Given the description of an element on the screen output the (x, y) to click on. 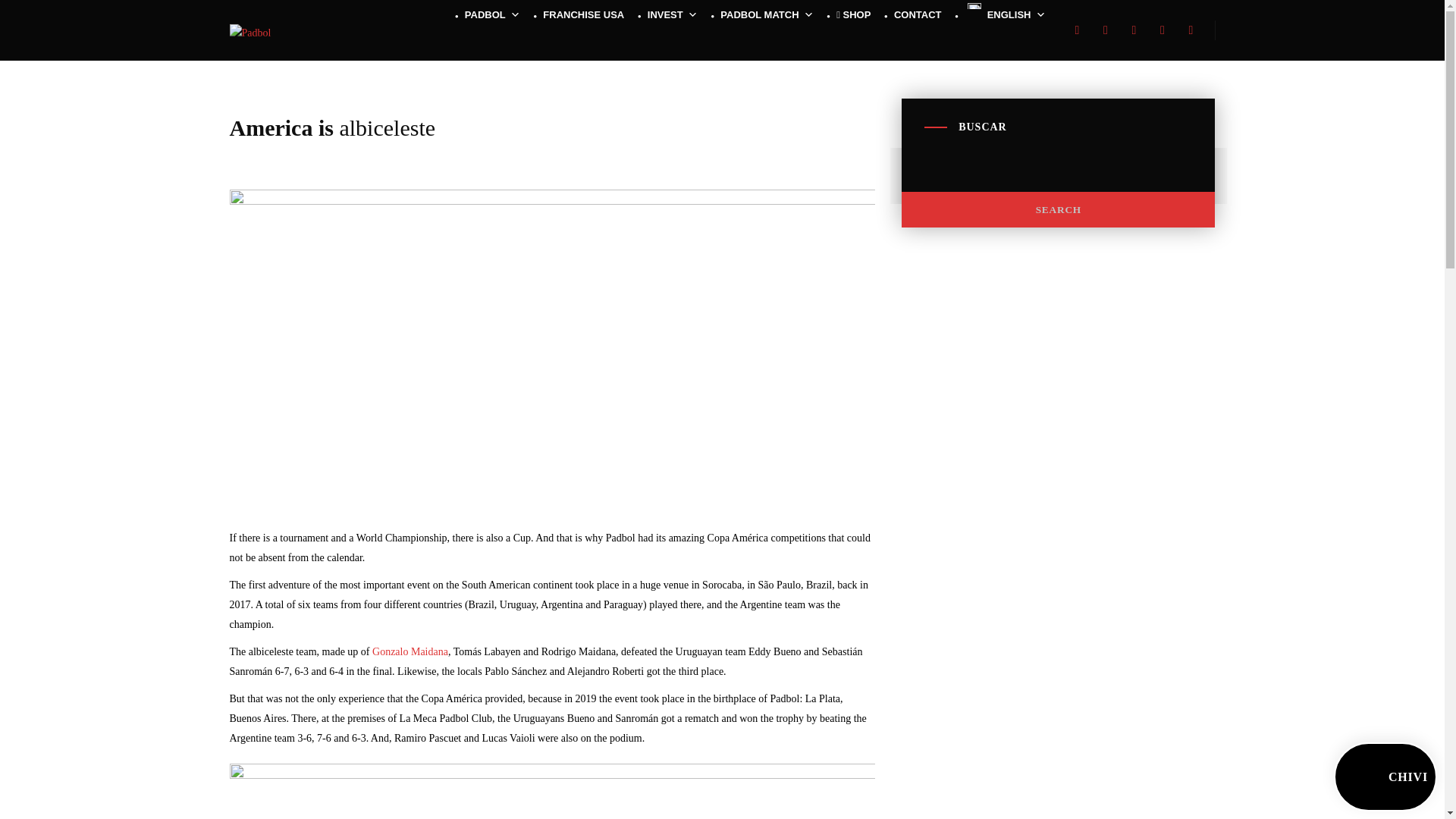
INVEST (667, 15)
PADBOL MATCH (762, 15)
Chivi  (1385, 776)
CONTACT (913, 15)
SHOP (850, 15)
Search (1057, 209)
PADBOL (487, 15)
ENGLISH (1000, 15)
ENGLISH (1000, 15)
FRANCHISE USA (579, 15)
